Given the description of an element on the screen output the (x, y) to click on. 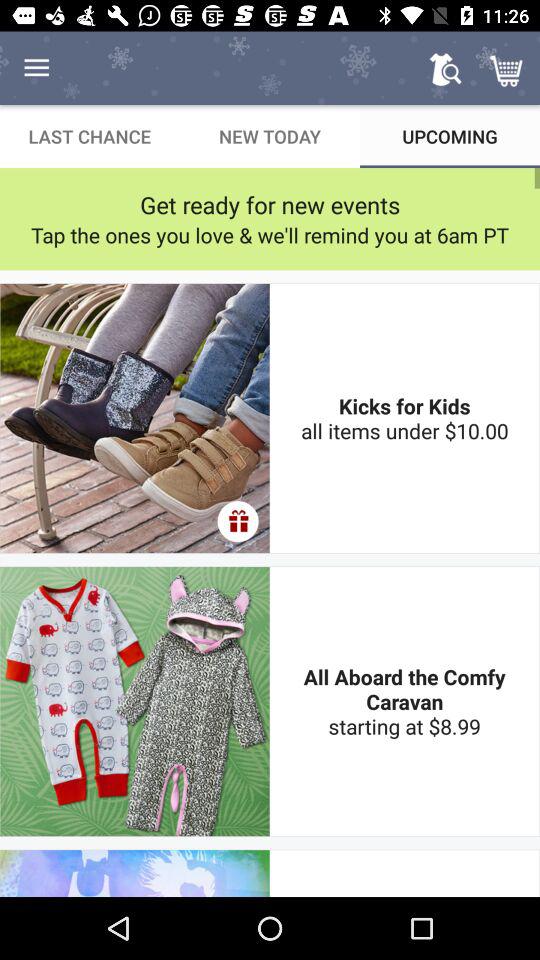
choose the icon to the left of the kicks for kids icon (238, 521)
